Given the description of an element on the screen output the (x, y) to click on. 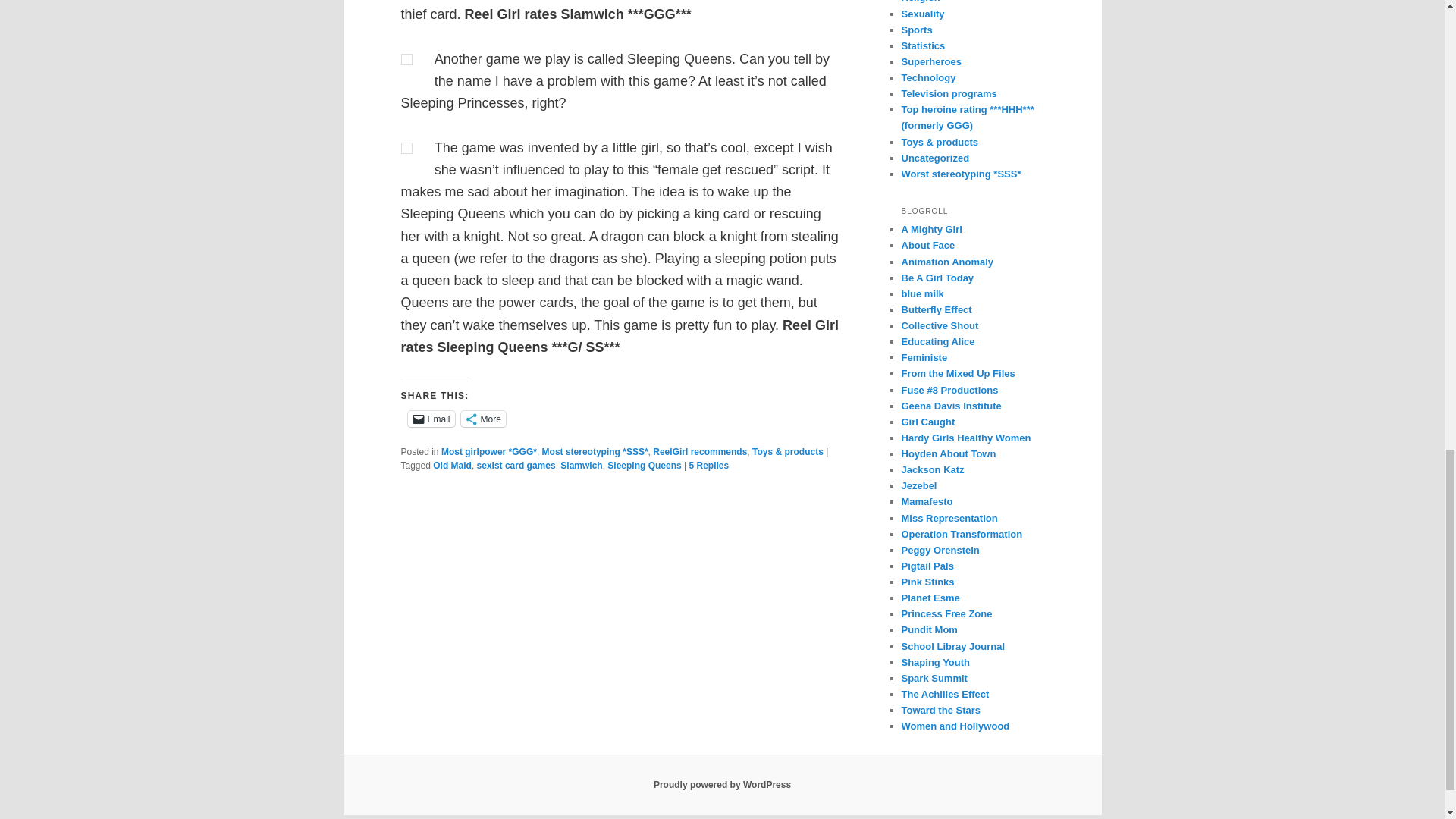
Email (430, 418)
Slamwich (581, 465)
ReelGirl recommends (699, 451)
Sleeping Queens (644, 465)
More (483, 418)
slamwich (406, 59)
sexist card games (516, 465)
5 Replies (708, 465)
Semantic Personal Publishing Platform (721, 784)
Click to email a link to a friend (430, 418)
sleepingqueens (406, 147)
Old Maid (451, 465)
